Given the description of an element on the screen output the (x, y) to click on. 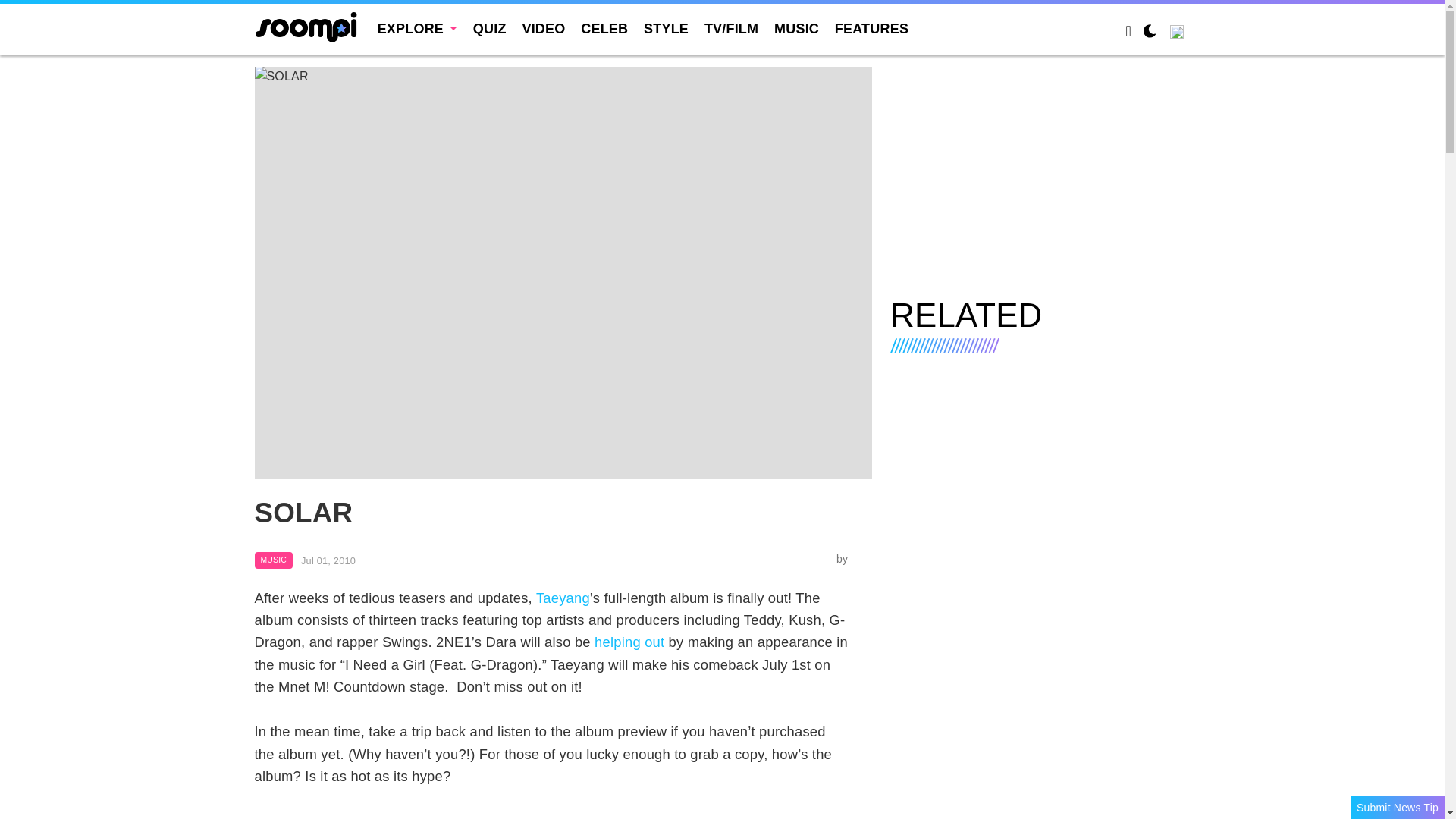
Taeyang (562, 597)
STYLE (665, 28)
MUSIC (796, 28)
CELEB (603, 28)
EXPLORE (417, 28)
Music (273, 560)
MUSIC (273, 560)
QUIZ (489, 28)
VIDEO (542, 28)
FEATURES (871, 28)
